Given the description of an element on the screen output the (x, y) to click on. 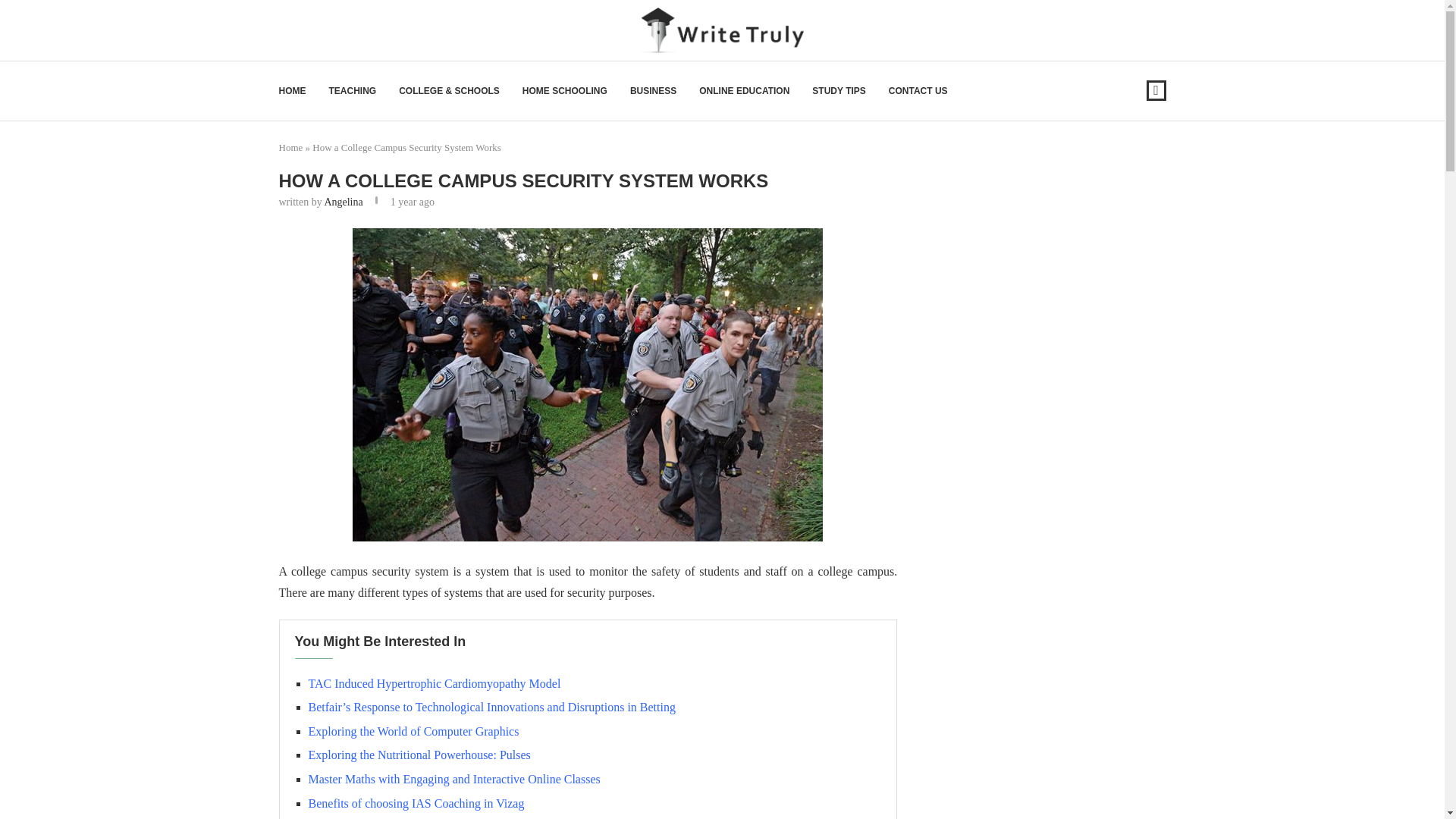
BUSINESS (653, 90)
ONLINE EDUCATION (743, 90)
TEACHING (353, 90)
CONTACT US (917, 90)
HOME SCHOOLING (564, 90)
STUDY TIPS (838, 90)
Home (290, 147)
